Given the description of an element on the screen output the (x, y) to click on. 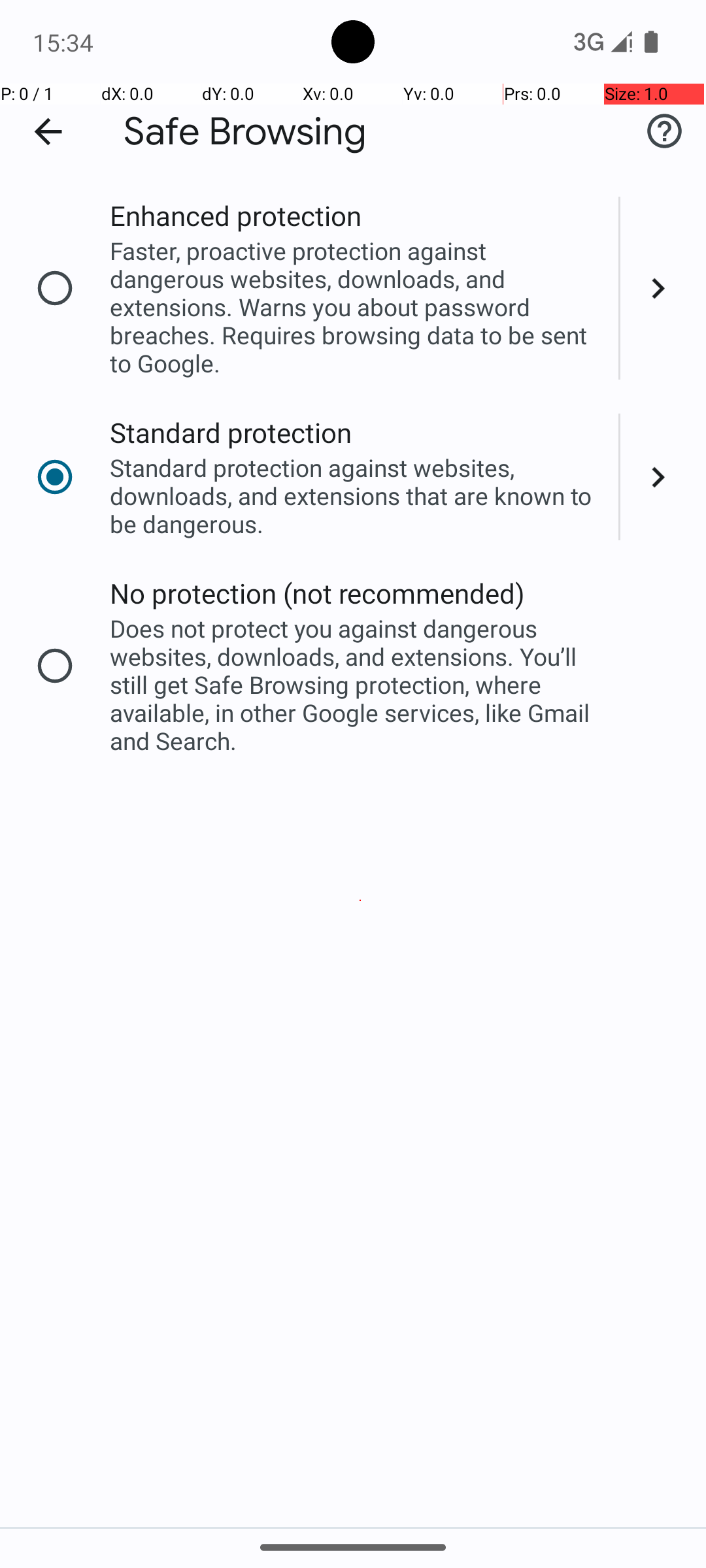
Safe Browsing Element type: android.widget.TextView (244, 131)
Help & feedback Element type: android.widget.Button (664, 131)
Enhanced protection Element type: android.widget.TextView (235, 214)
Faster, proactive protection against dangerous websites, downloads, and extensions. Warns you about password breaches. Requires browsing data to be sent to Google. Element type: android.widget.TextView (355, 306)
Expand Element type: android.widget.ImageButton (663, 287)
Standard protection Element type: android.widget.TextView (230, 431)
Standard protection against websites, downloads, and extensions that are known to be dangerous. Element type: android.widget.TextView (355, 495)
No protection (not recommended) Element type: android.widget.TextView (317, 592)
Does not protect you against dangerous websites, downloads, and extensions. You’ll still get Safe Browsing protection, where available, in other Google services, like Gmail and Search. Element type: android.widget.TextView (355, 684)
